Given the description of an element on the screen output the (x, y) to click on. 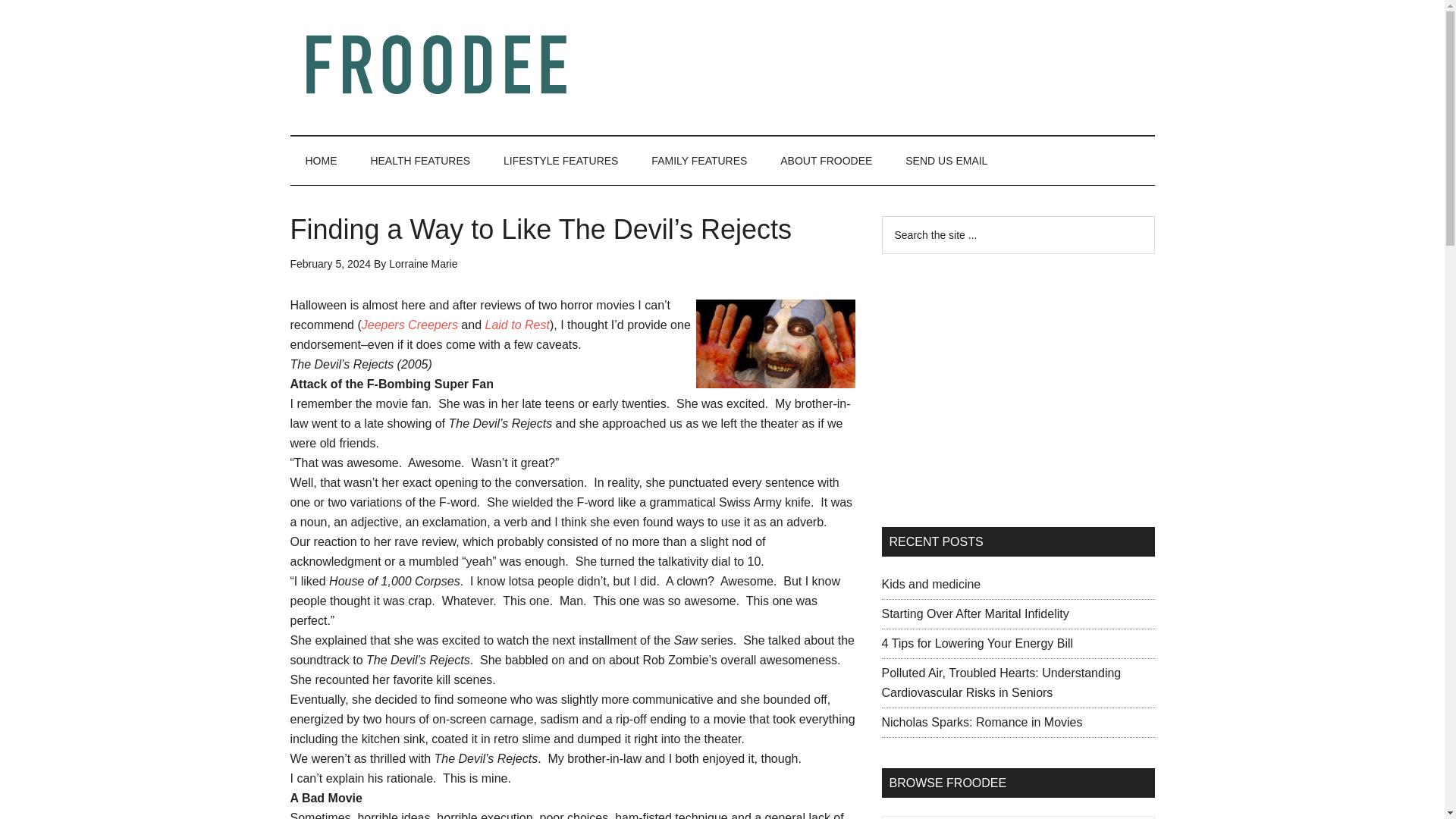
HEALTH FEATURES (419, 160)
Jeepers Creepers (409, 324)
FAMILY FEATURES (698, 160)
Froodee (433, 64)
Kids and medicine (929, 584)
4 Tips for Lowering Your Energy Bill (976, 643)
Starting Over After Marital Infidelity (974, 613)
